Given the description of an element on the screen output the (x, y) to click on. 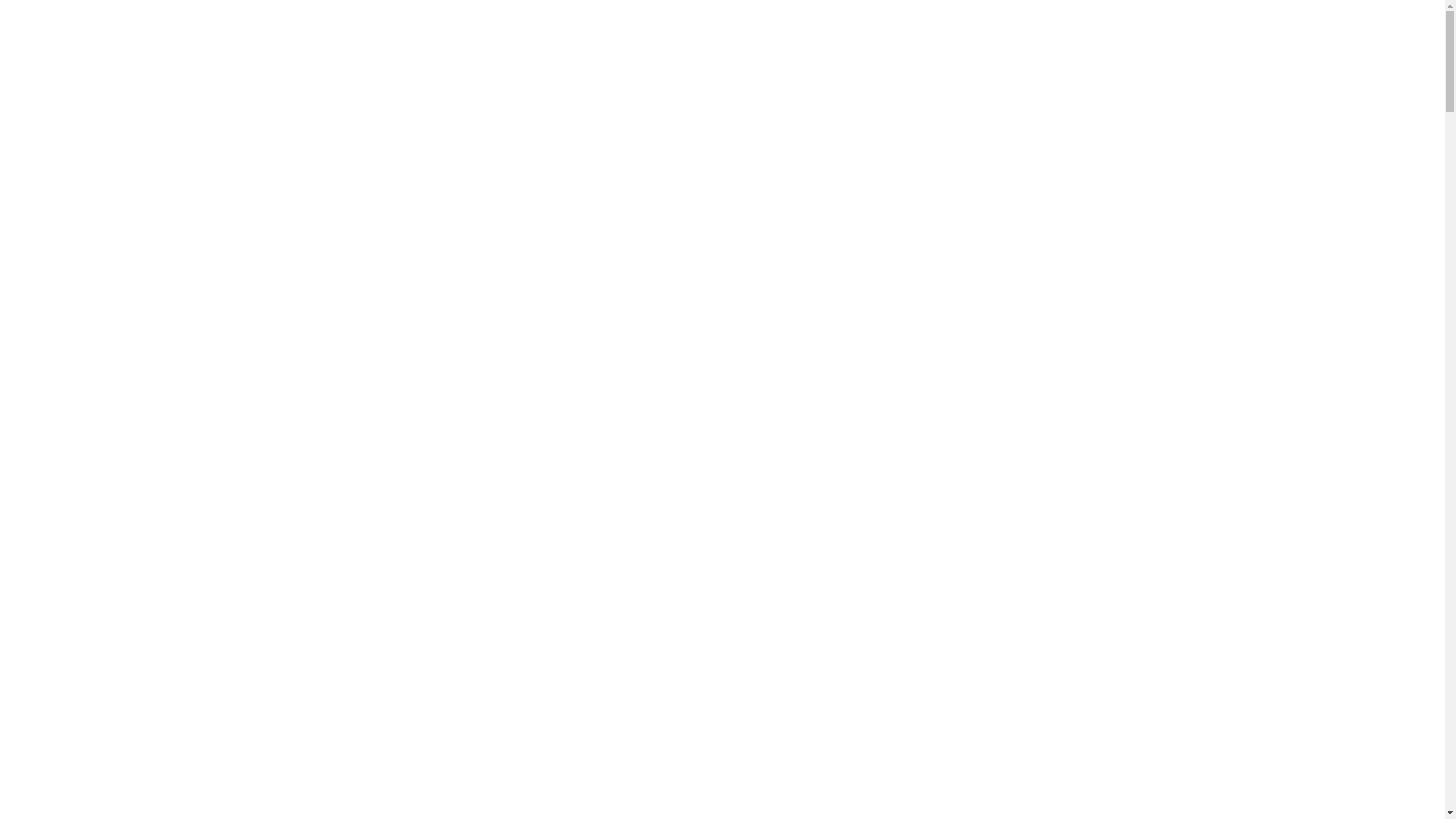
CONTACT Element type: text (1217, 30)
ABOUT OUR TAXI SERVICE Element type: text (629, 30)
HOME Element type: text (521, 30)
RECRUITMENT Element type: text (758, 30)
LOST PROPERTY Element type: text (1125, 30)
PRICING Element type: text (1036, 30)
SUBSIDY SCHEME Element type: text (867, 30)
CALL NOW 1300 99 2487 Element type: text (1327, 30)
SERVICES Element type: text (964, 30)
